Given the description of an element on the screen output the (x, y) to click on. 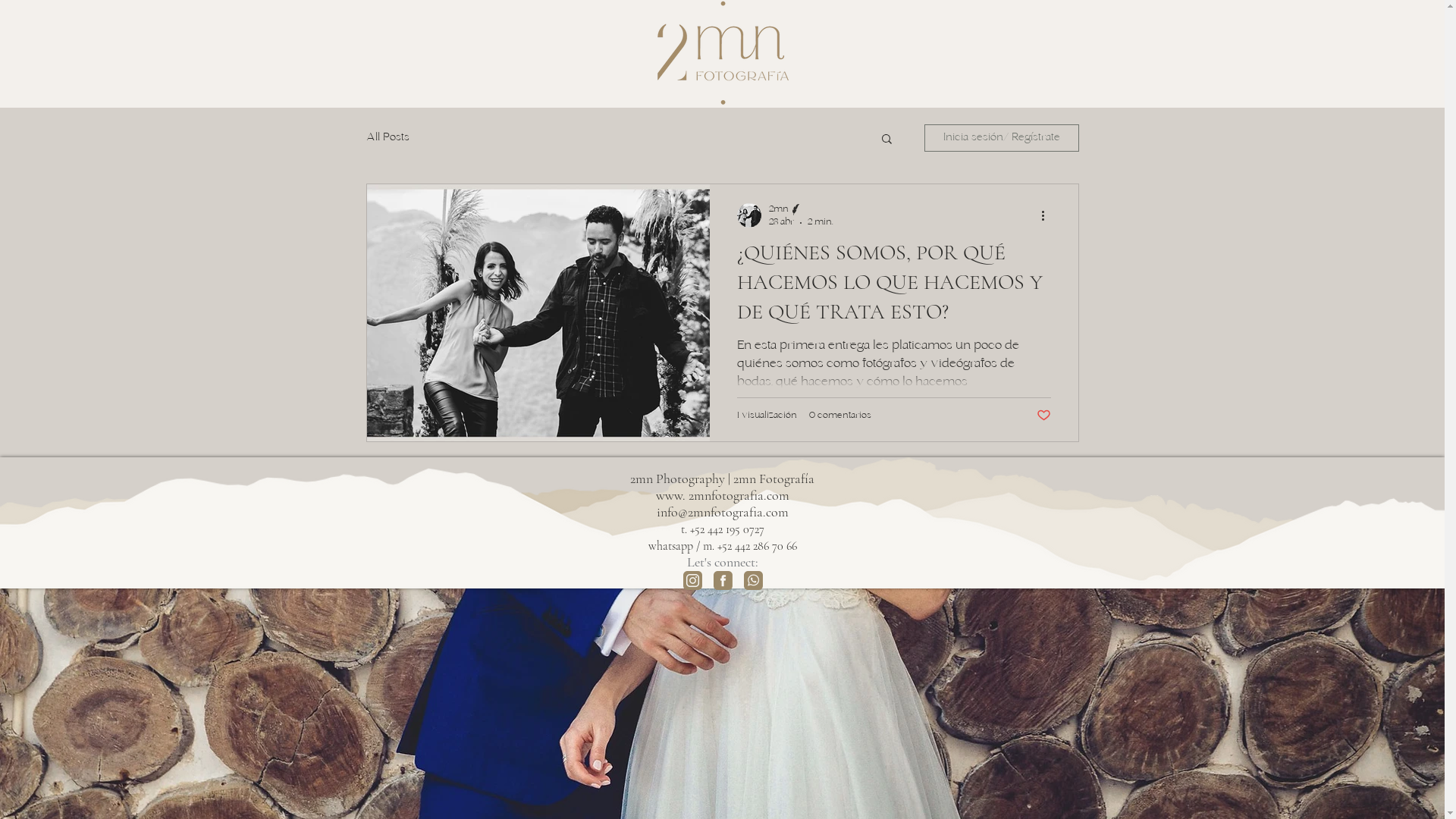
0 comentarios Element type: text (839, 415)
All Posts Element type: text (386, 137)
Entrada no marcada como Me Gusta Element type: text (1042, 415)
